Given the description of an element on the screen output the (x, y) to click on. 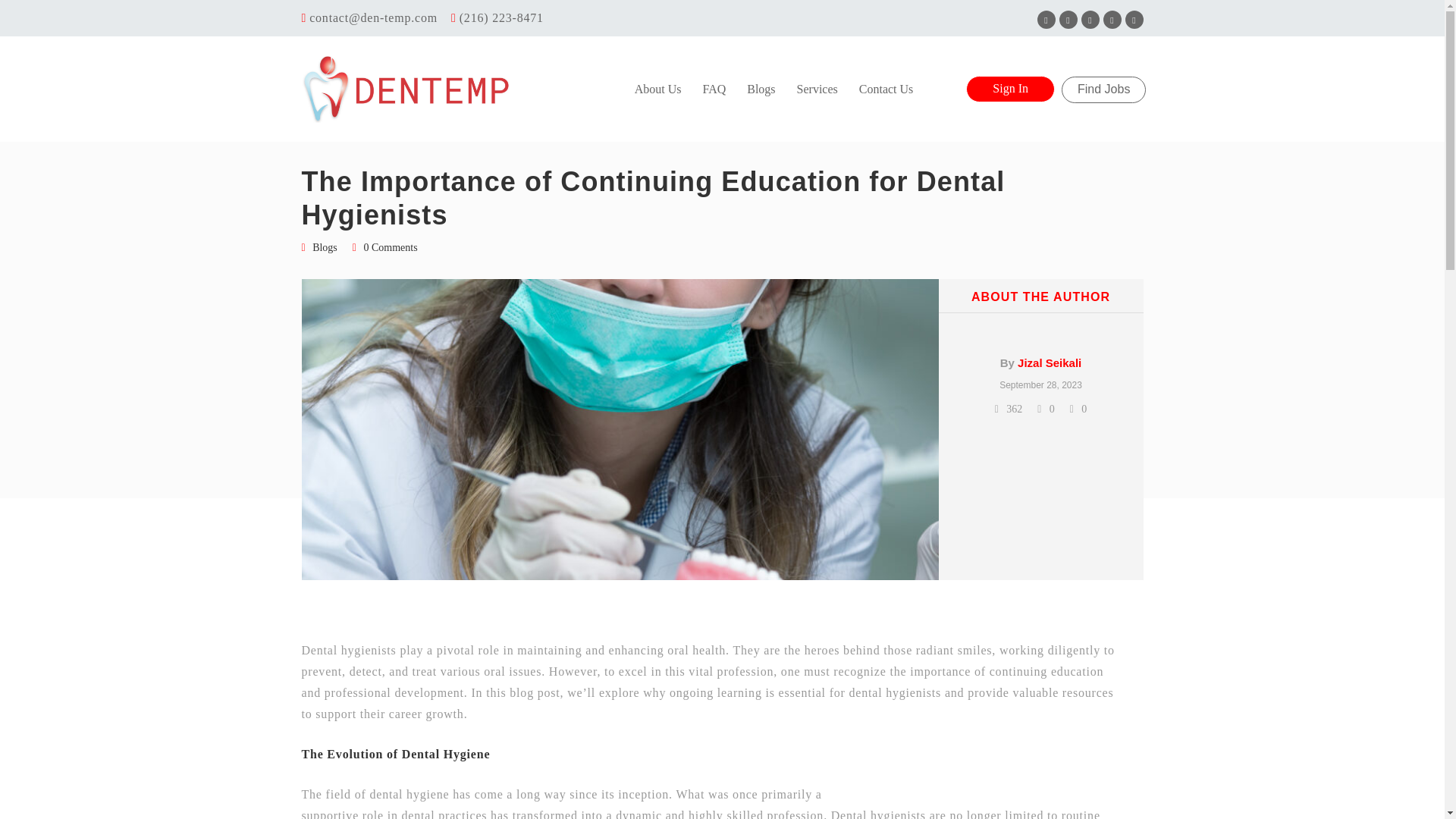
Sign In (1010, 89)
0 (1078, 408)
Jizal Seikali (1049, 362)
Blogs (325, 247)
0 Comments (389, 247)
0 (1045, 408)
Find Jobs (1103, 89)
DenTemp, LLC (406, 89)
